Given the description of an element on the screen output the (x, y) to click on. 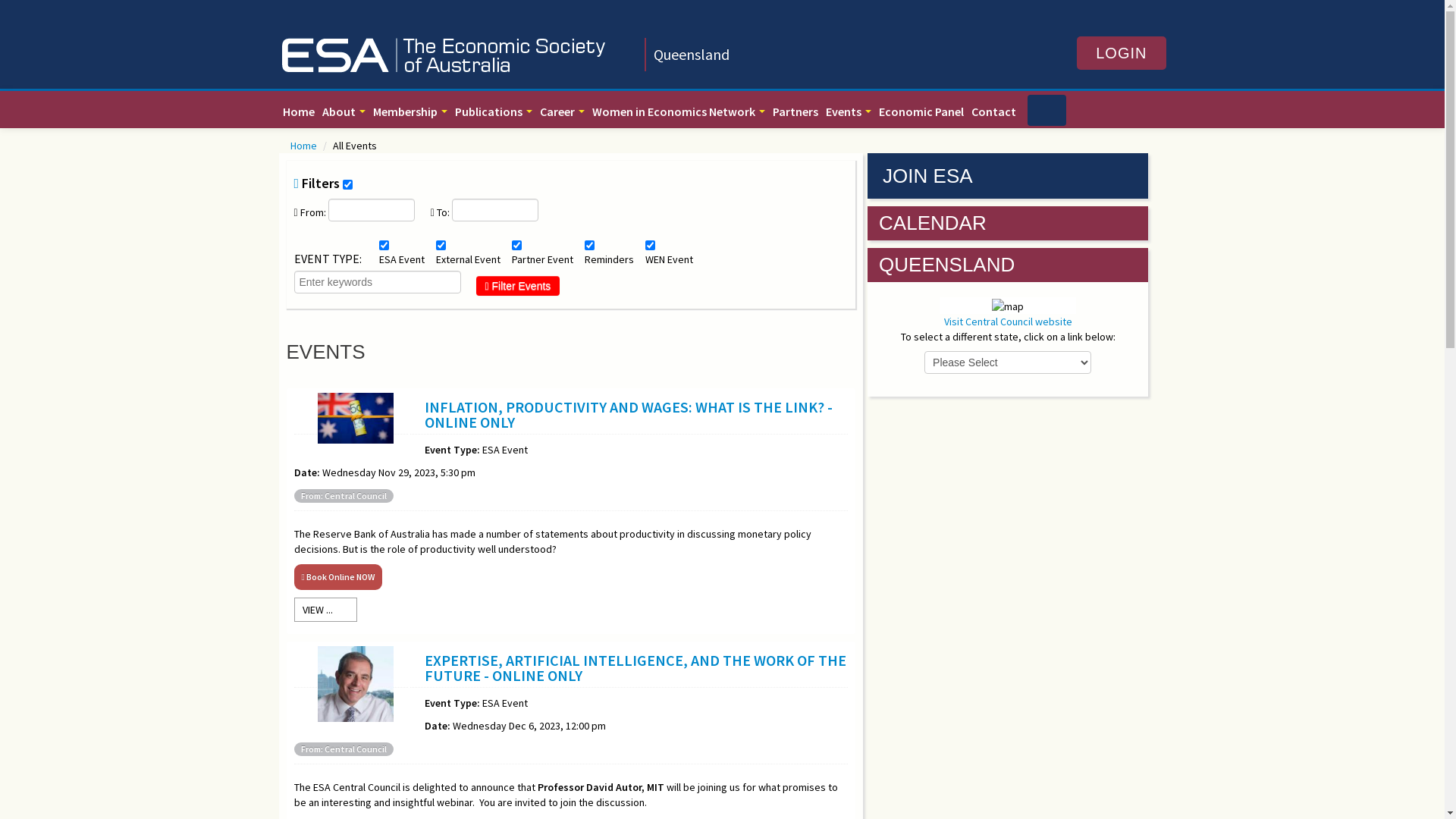
Book Online NOW Element type: text (337, 576)
Filter Events Element type: text (518, 285)
CALENDAR Element type: text (932, 223)
Home Element type: text (303, 145)
Economic Panel Element type: text (921, 111)
Membership Element type: text (409, 111)
About Element type: text (343, 111)
on Element type: text (347, 184)
Career Element type: text (561, 111)
Events Element type: text (848, 111)
JOIN ESA Element type: text (1007, 175)
From: Central Council Element type: text (342, 748)
Publications Element type: text (492, 111)
LOGIN Element type: text (1120, 52)
From: Central Council Element type: text (342, 495)
QUEENSLAND Element type: text (946, 264)
Visit Central Council website Element type: text (1008, 321)
Partners Element type: text (795, 111)
Home Element type: text (298, 111)
VIEW ... Element type: text (325, 609)
Contact Element type: text (993, 111)
Women in Economics Network Element type: text (678, 111)
